Given the description of an element on the screen output the (x, y) to click on. 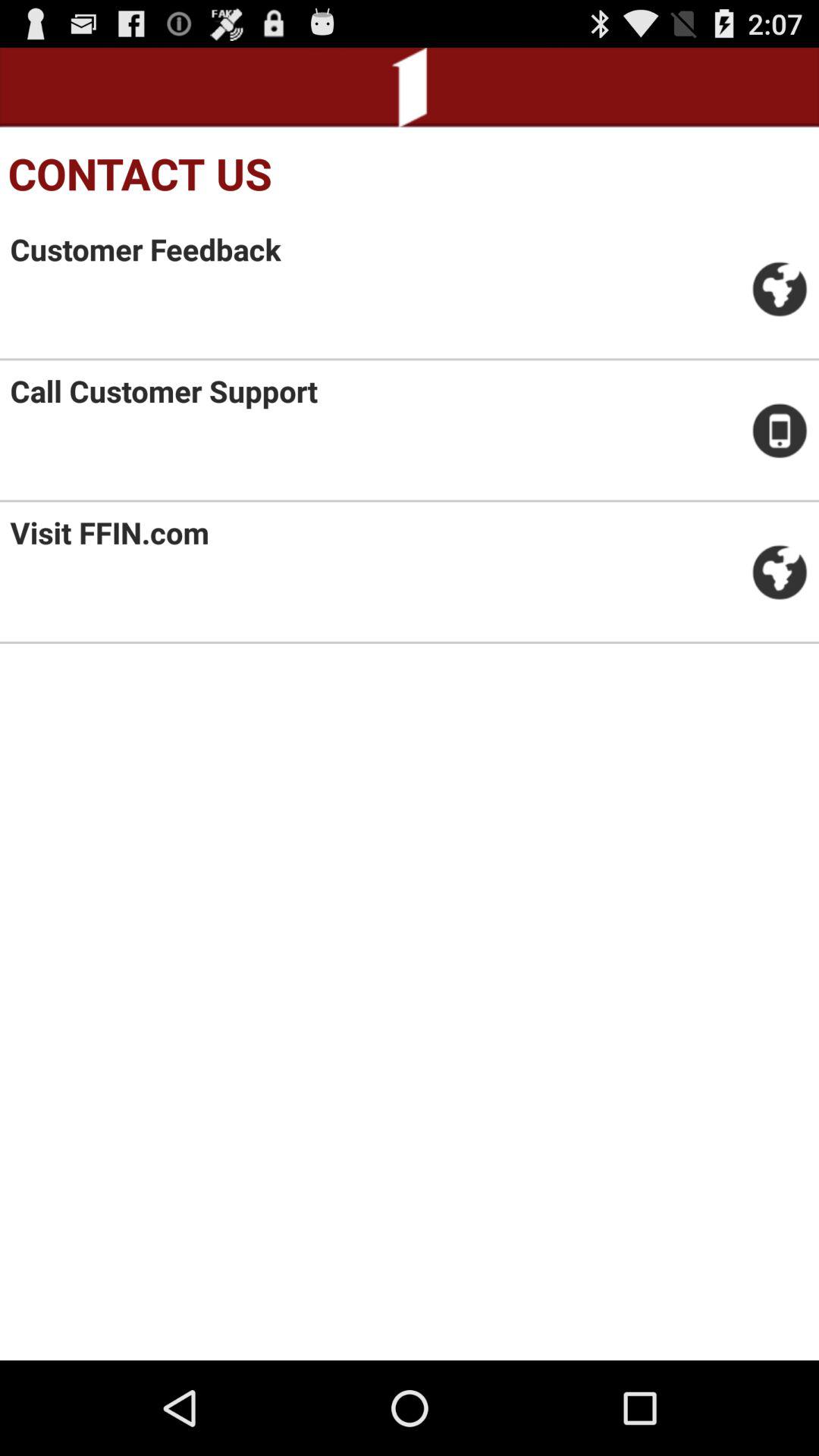
turn on the item below the customer feedback (163, 390)
